Given the description of an element on the screen output the (x, y) to click on. 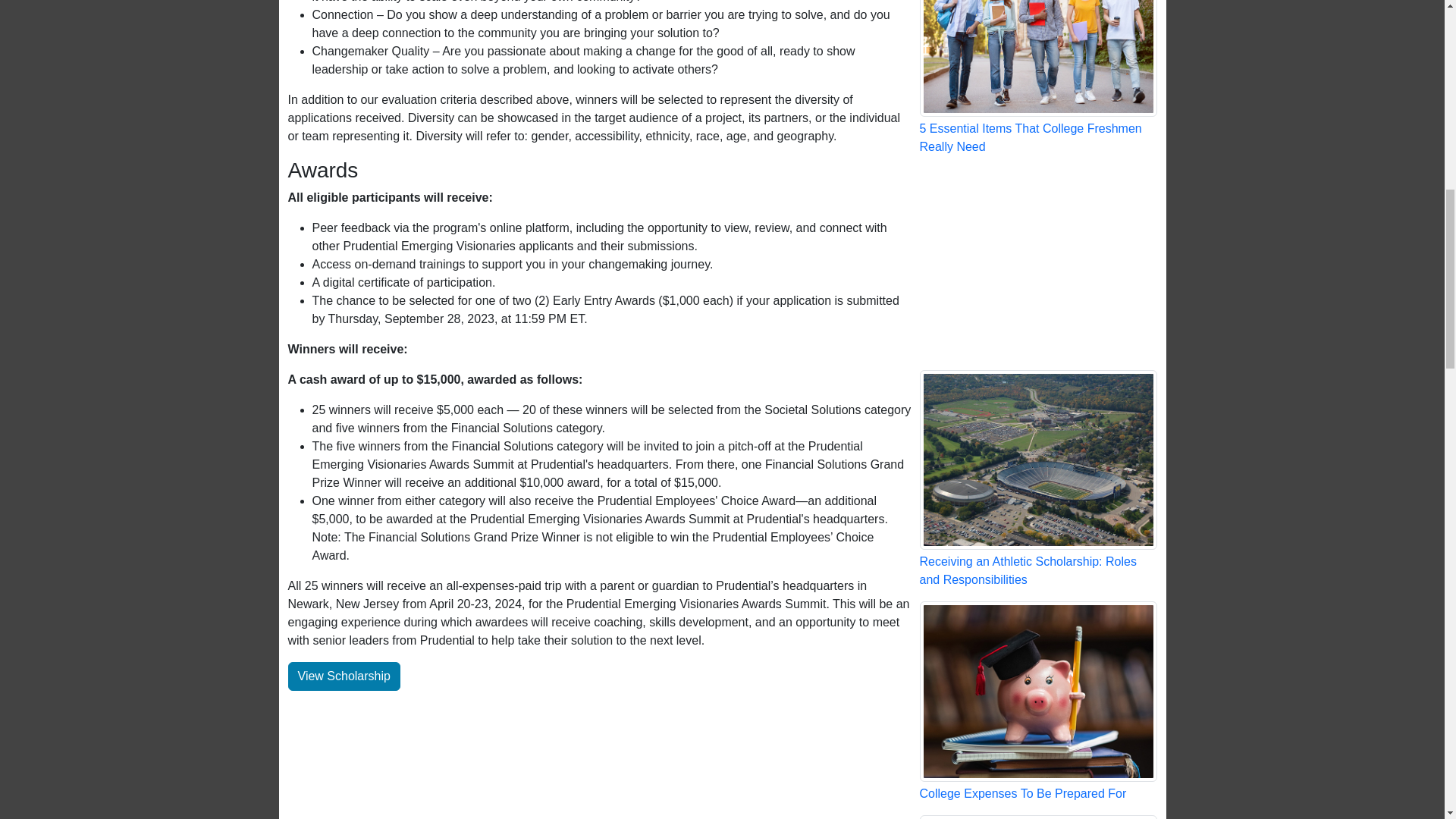
Advertisement (1037, 262)
View Scholarship (344, 676)
